Given the description of an element on the screen output the (x, y) to click on. 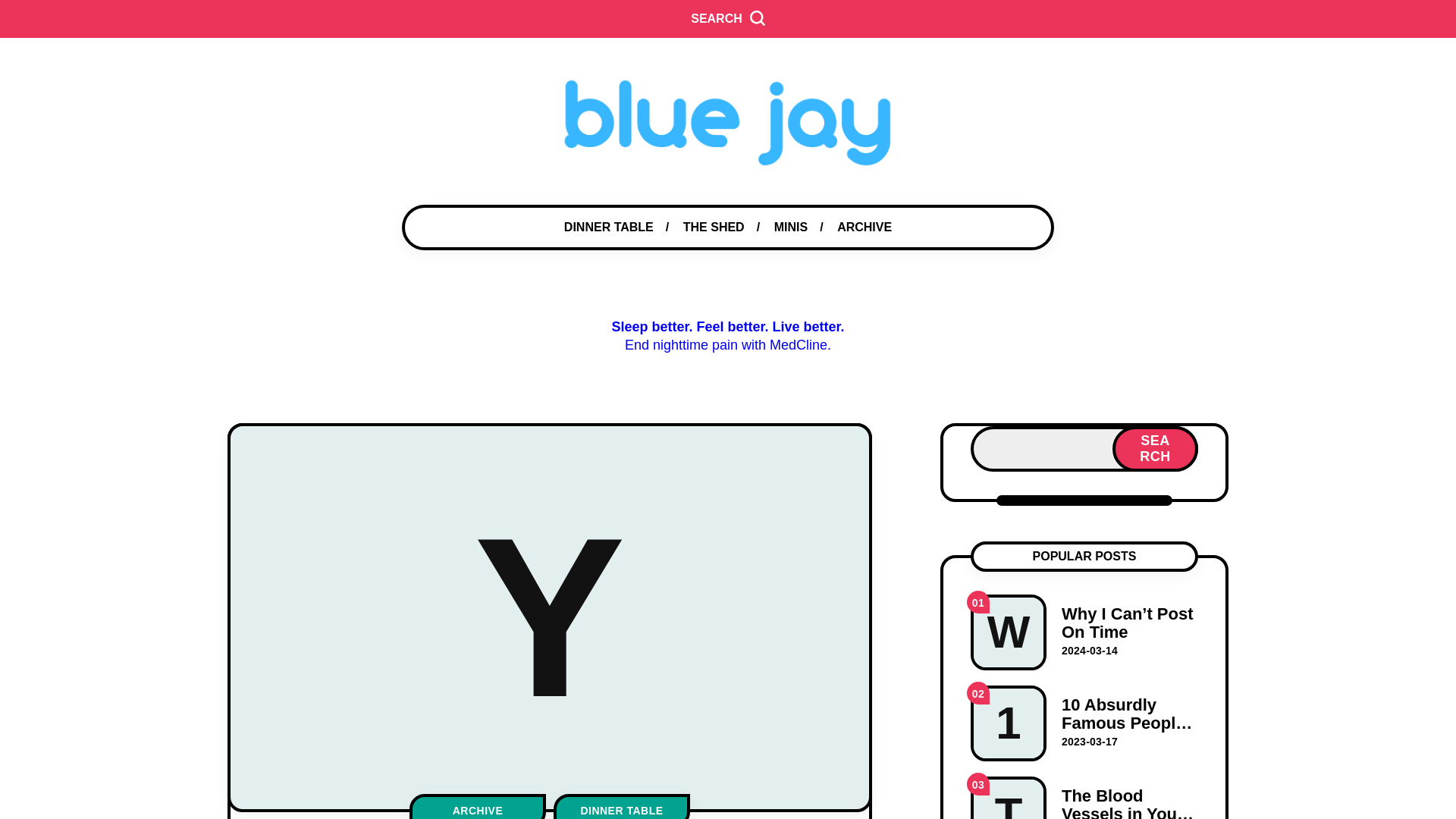
SEARCH (727, 18)
ARCHIVE (477, 806)
The Blood Vessels in Your Hand (1084, 797)
ARCHIVE (864, 227)
DINNER TABLE (608, 227)
THE SHED (713, 227)
DINNER TABLE (621, 806)
